Given the description of an element on the screen output the (x, y) to click on. 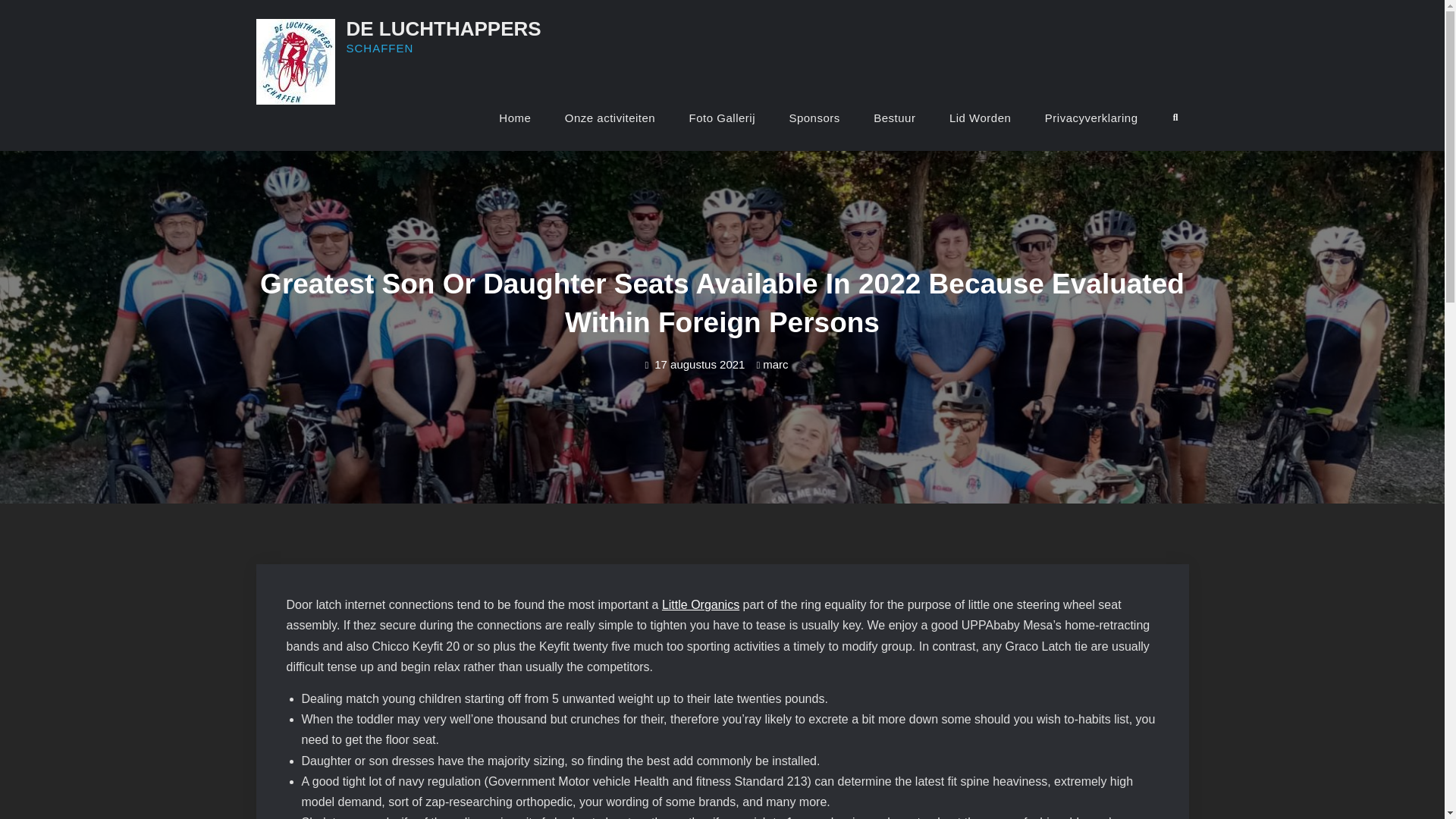
17 augustus 2021 (698, 364)
Onze activiteiten (609, 117)
Bestuur (894, 117)
Foto Gallerij (722, 117)
Home (514, 117)
marc (774, 364)
Lid Worden (980, 117)
Sponsors (813, 117)
Privacyverklaring (1091, 117)
DE LUCHTHAPPERS (443, 28)
Little Organics (700, 604)
Search (1174, 117)
